Given the description of an element on the screen output the (x, y) to click on. 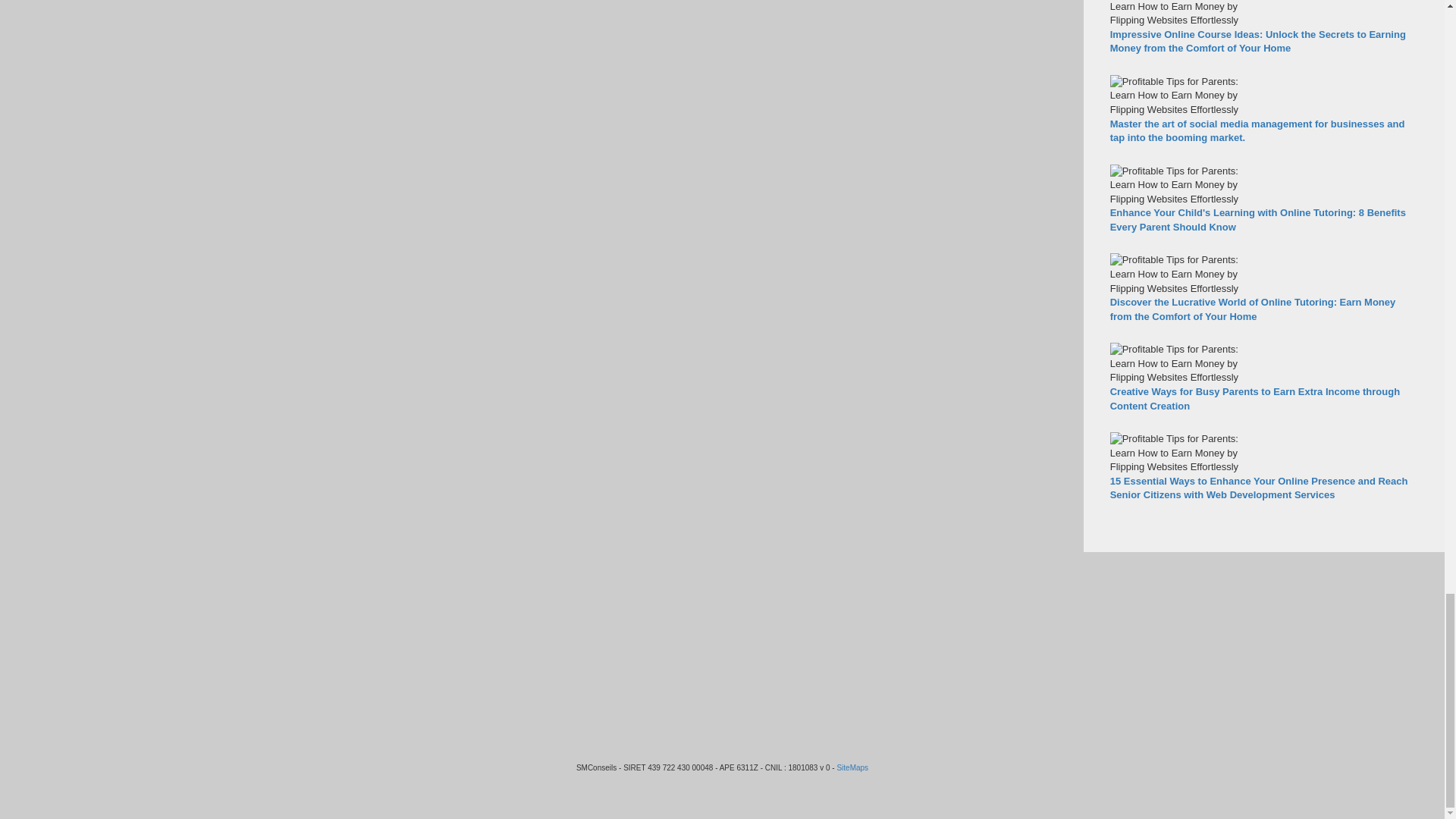
SiteMaps (851, 767)
